Given the description of an element on the screen output the (x, y) to click on. 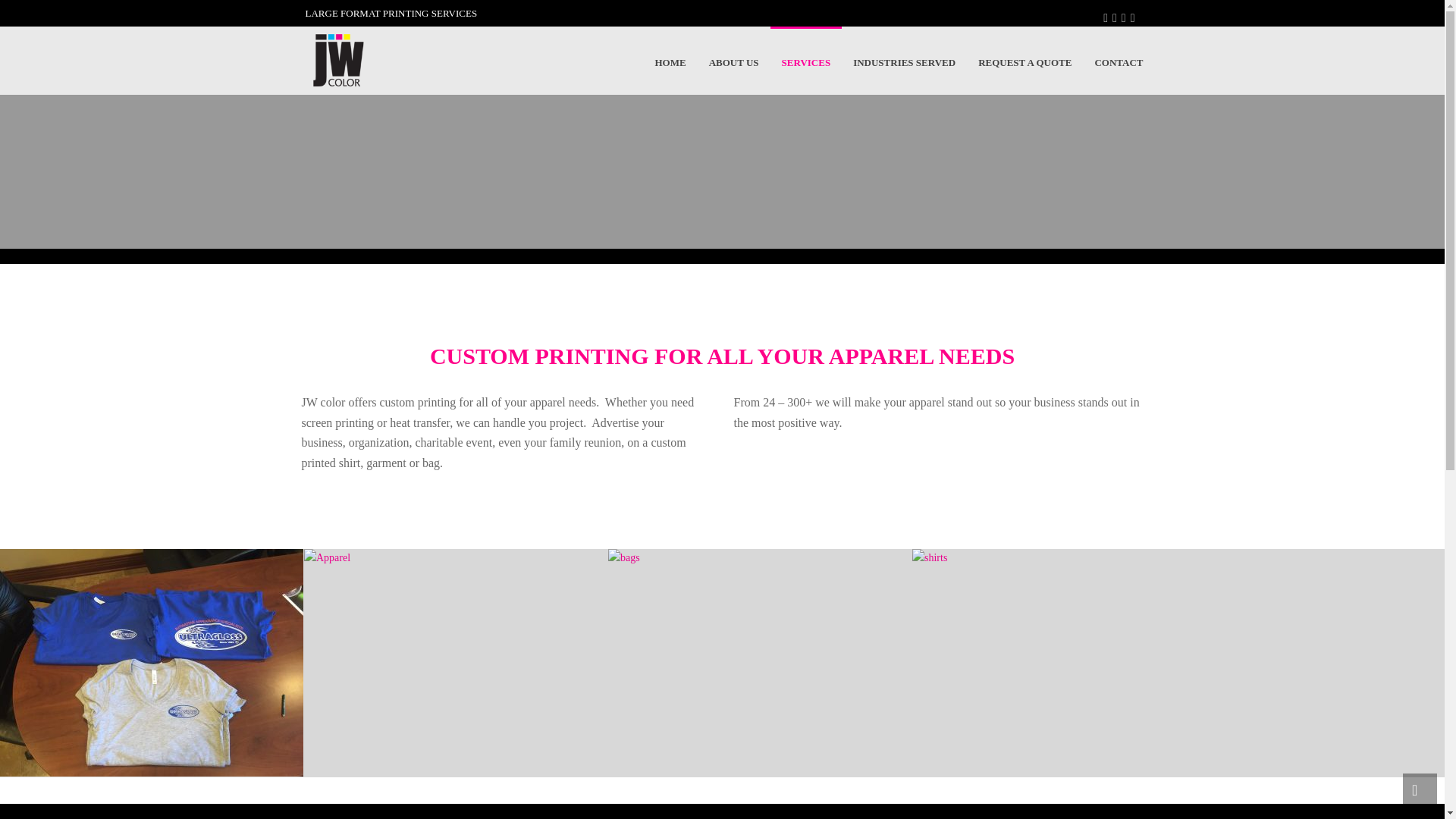
INDUSTRIES SERVED (903, 60)
shirts (1063, 662)
ABOUT US (733, 60)
CONTACT (1118, 60)
REQUEST A QUOTE (1024, 60)
CONTACT (1118, 60)
Large Format 4 Color Printing Services In Canton, Ohio (336, 60)
SERVICES (806, 60)
ABOUT US (733, 60)
Apparel (455, 662)
bags (759, 662)
INDUSTRIES SERVED (903, 60)
REQUEST A QUOTE (1024, 60)
SERVICES (806, 60)
